Given the description of an element on the screen output the (x, y) to click on. 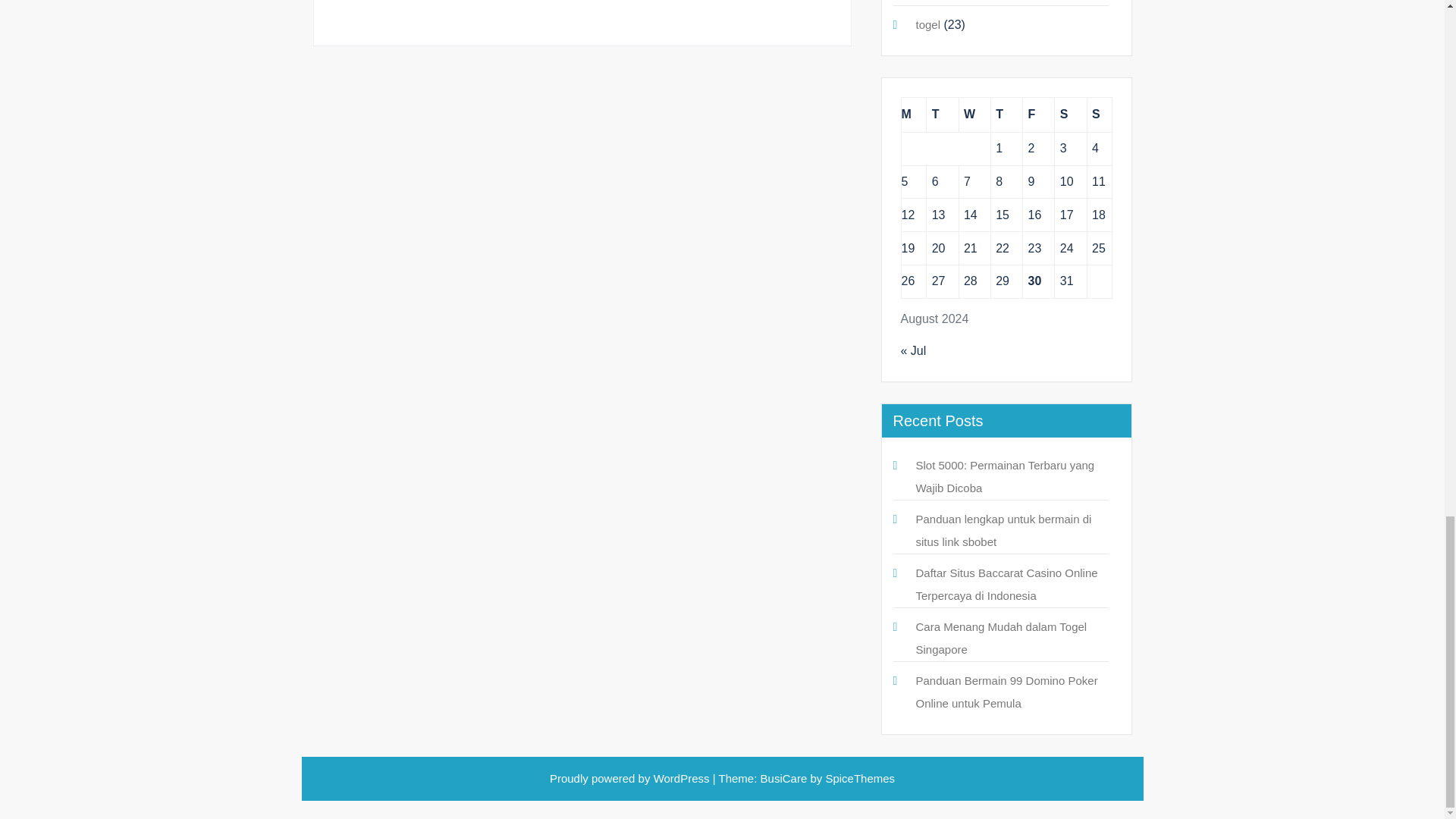
Friday (1038, 114)
Saturday (1070, 114)
Tuesday (942, 114)
Wednesday (974, 114)
Thursday (1006, 114)
togel (927, 24)
